Given the description of an element on the screen output the (x, y) to click on. 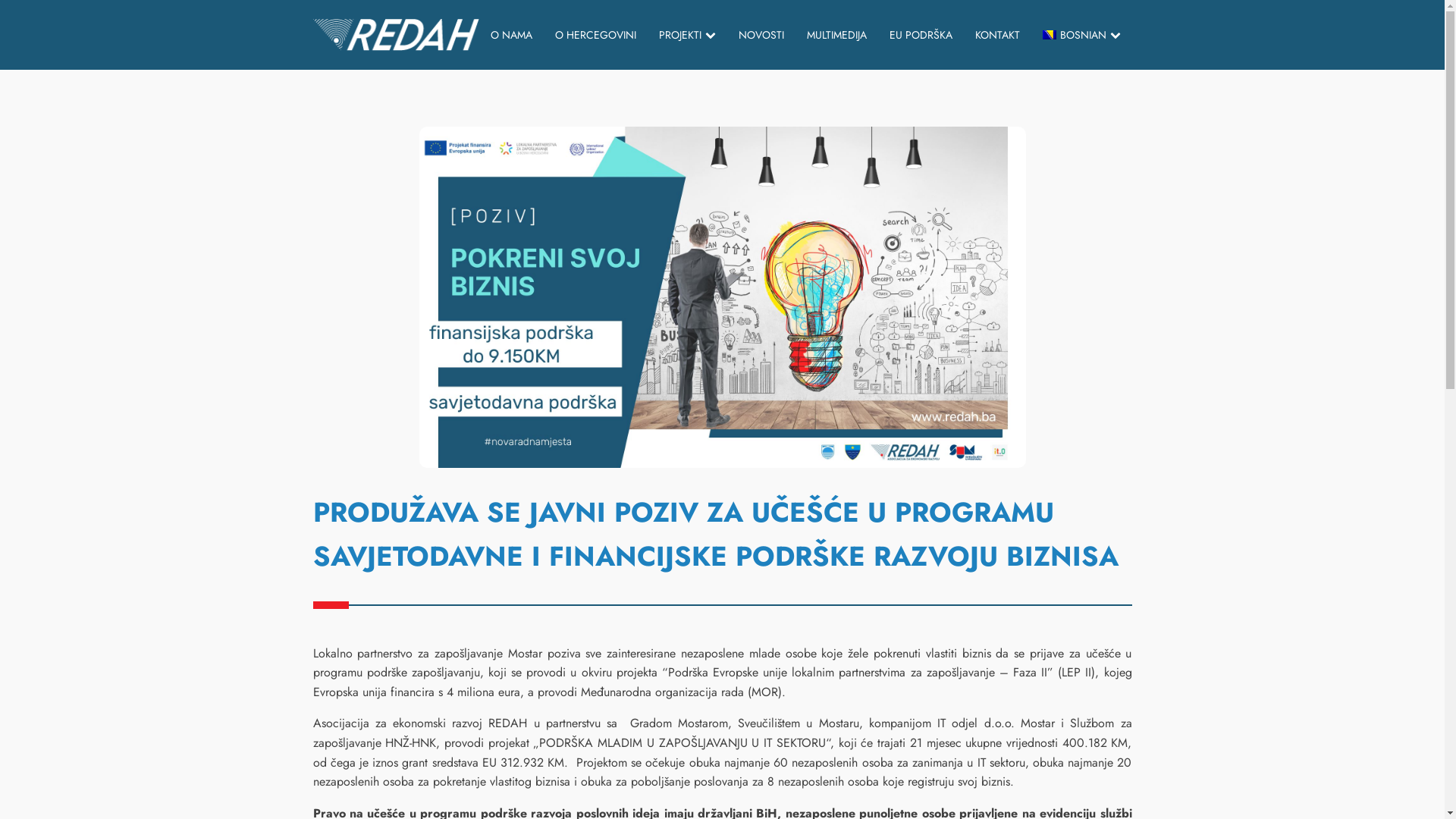
KONTAKT Element type: text (997, 34)
O HERCEGOVINI Element type: text (595, 34)
BOSNIAN Element type: text (1080, 34)
PROJEKTI Element type: text (687, 34)
MULTIMEDIJA Element type: text (836, 34)
NOVOSTI Element type: text (760, 34)
O NAMA Element type: text (511, 34)
